Given the description of an element on the screen output the (x, y) to click on. 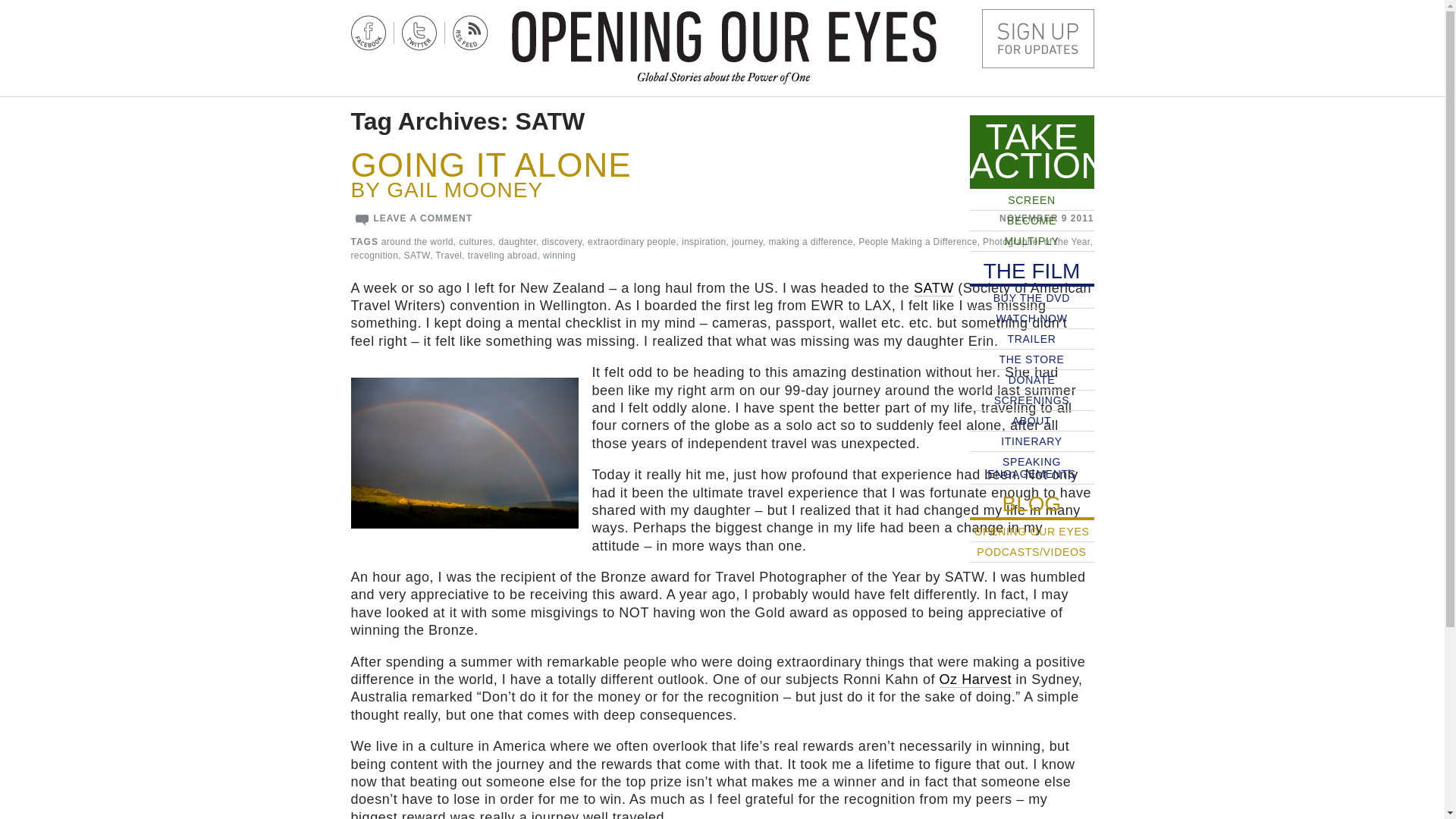
around the world (416, 241)
Facebook (367, 32)
discovery (560, 241)
cultures (475, 241)
LEAVE A COMMENT (421, 217)
daughter (518, 241)
Opening Our Eyes (723, 36)
Host a Screening (1037, 38)
Twitter (419, 32)
RSS (469, 32)
